Given the description of an element on the screen output the (x, y) to click on. 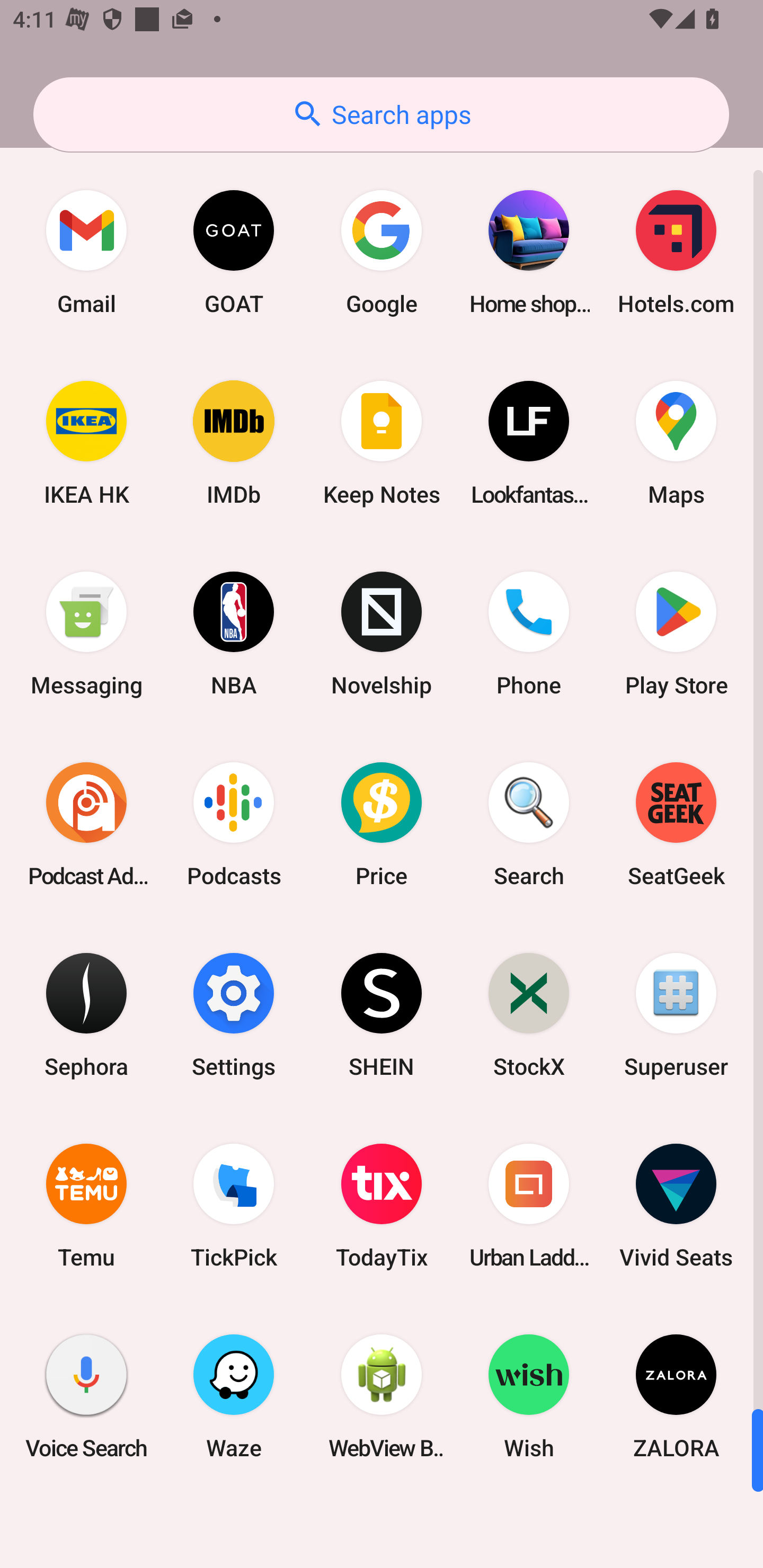
  Search apps (381, 114)
Gmail (86, 252)
GOAT (233, 252)
Google (381, 252)
Home shopping (528, 252)
Hotels.com (676, 252)
IKEA HK (86, 442)
IMDb (233, 442)
Keep Notes (381, 442)
Lookfantastic (528, 442)
Maps (676, 442)
Messaging (86, 633)
NBA (233, 633)
Novelship (381, 633)
Phone (528, 633)
Play Store (676, 633)
Podcast Addict (86, 823)
Podcasts (233, 823)
Price (381, 823)
Search (528, 823)
SeatGeek (676, 823)
Sephora (86, 1014)
Settings (233, 1014)
SHEIN (381, 1014)
StockX (528, 1014)
Superuser (676, 1014)
Temu (86, 1205)
TickPick (233, 1205)
TodayTix (381, 1205)
Urban Ladder (528, 1205)
Vivid Seats (676, 1205)
Voice Search (86, 1396)
Waze (233, 1396)
WebView Browser Tester (381, 1396)
Wish (528, 1396)
ZALORA (676, 1396)
